Given the description of an element on the screen output the (x, y) to click on. 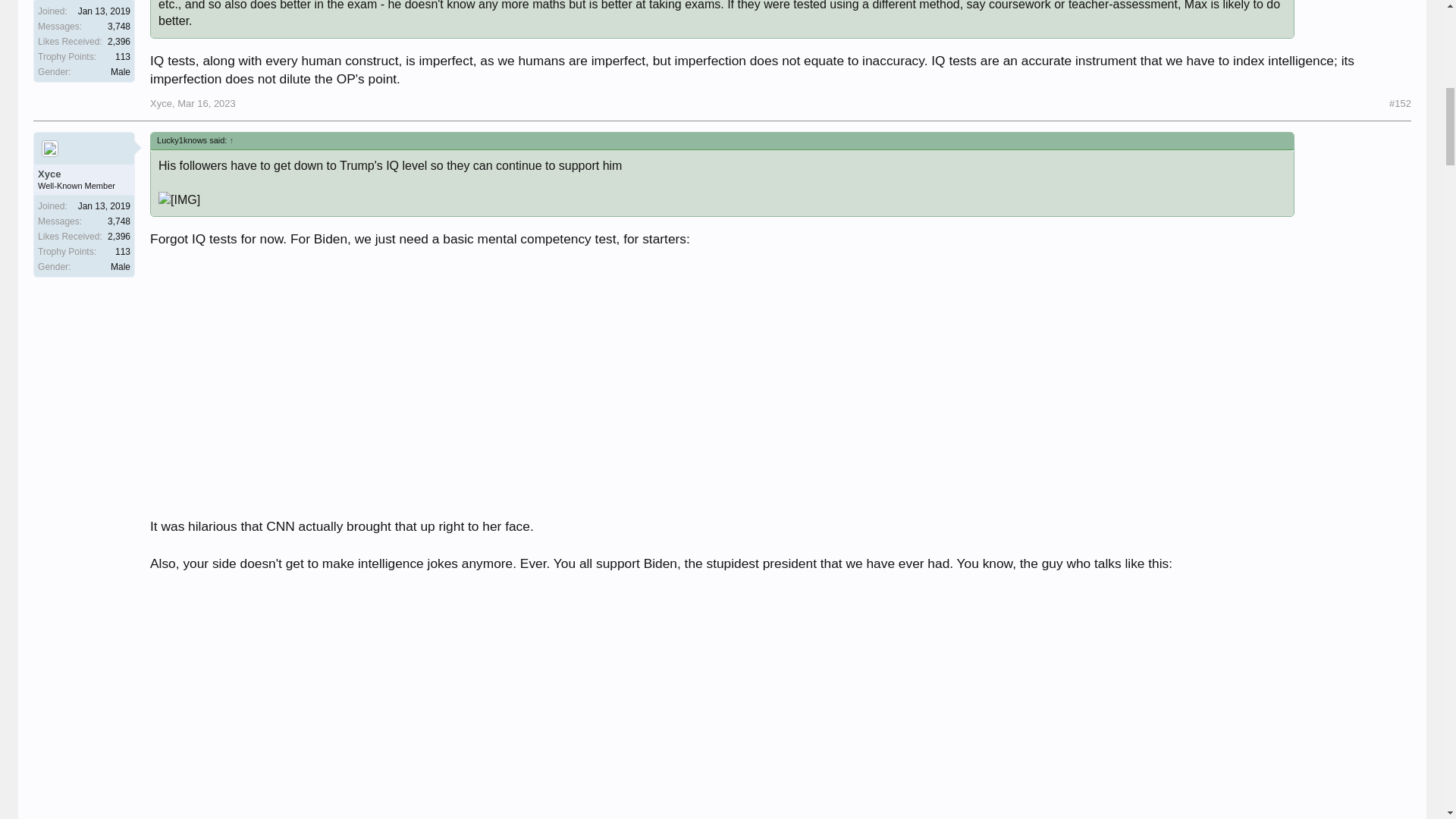
3,748 (119, 221)
Mar 16, 2023 (206, 102)
3,748 (119, 26)
Permalink (206, 102)
Permalink (1399, 103)
113 (123, 56)
Xyce (160, 102)
113 (123, 251)
Xyce (84, 174)
